Given the description of an element on the screen output the (x, y) to click on. 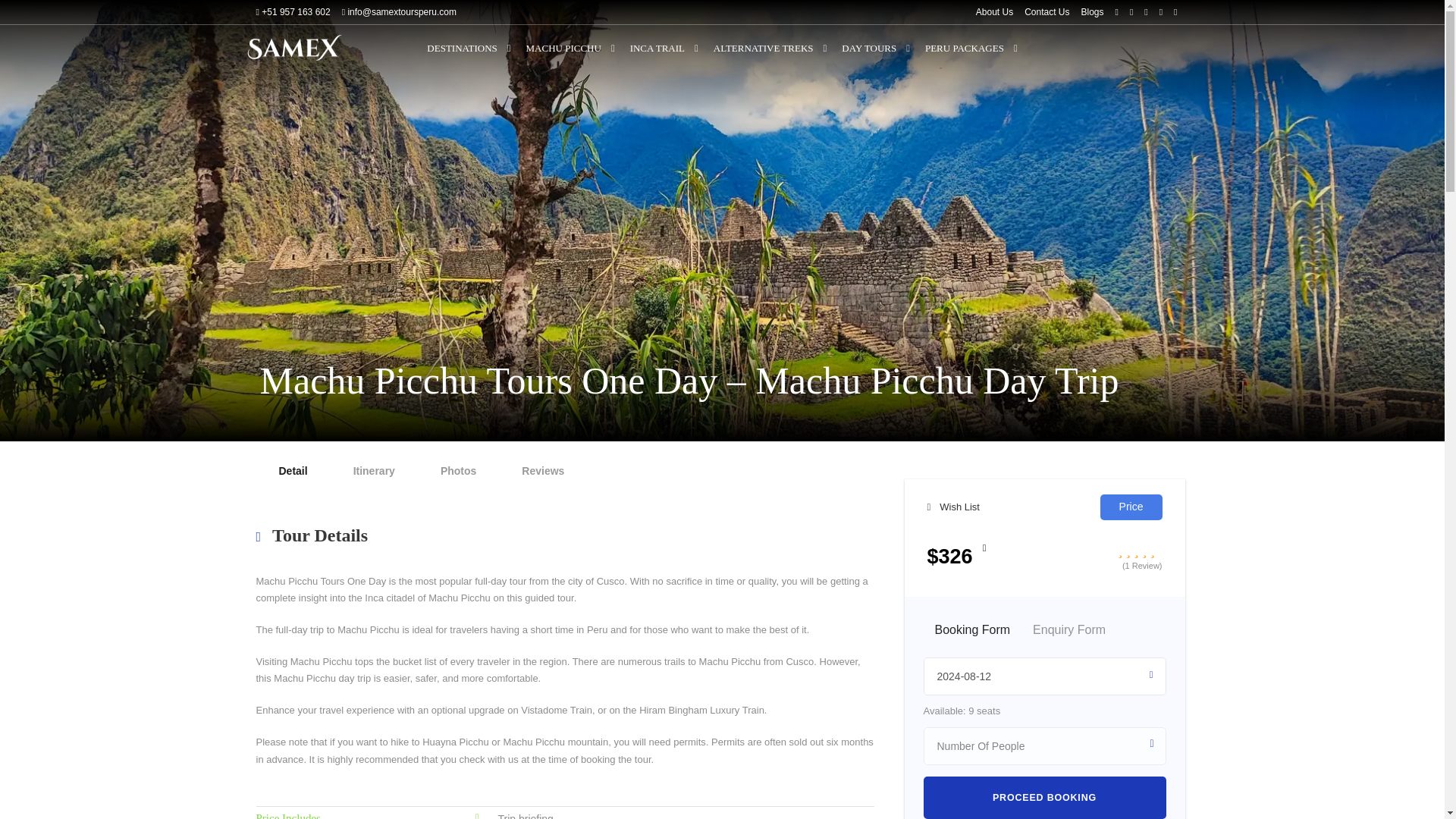
About Us (994, 12)
Proceed Booking (1044, 797)
2024-08-12 (1044, 676)
DESTINATIONS (468, 56)
MACHU PICCHU (569, 56)
samex-logo-dev (294, 47)
Blogs (1092, 12)
Contact Us (1046, 12)
